Given the description of an element on the screen output the (x, y) to click on. 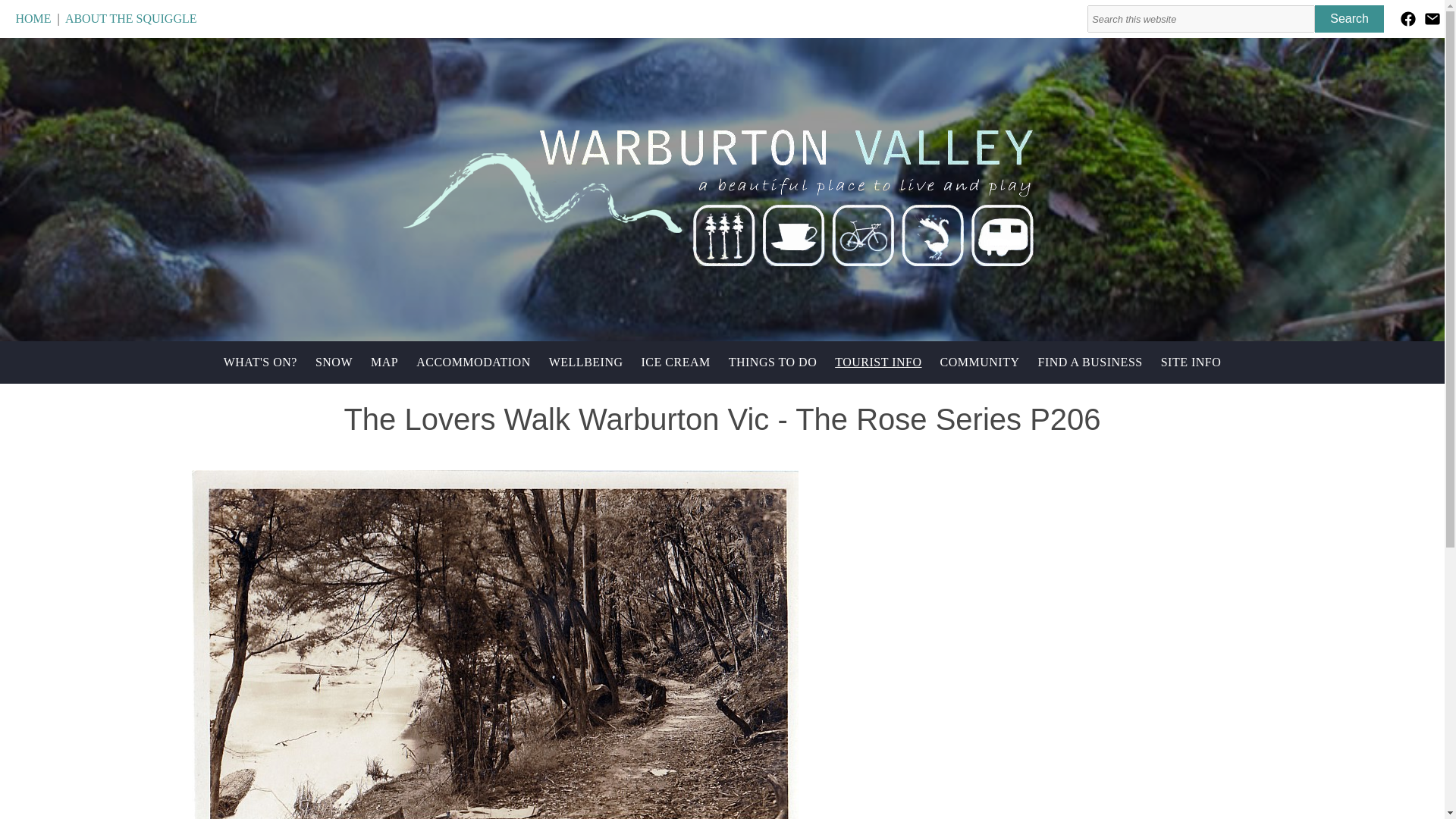
HOME (32, 18)
WELLBEING (585, 362)
Search (1349, 18)
MAP (384, 362)
TOURIST INFO (877, 362)
FIND A BUSINESS (1089, 362)
WHAT'S ON? (259, 362)
Connect with us: Facebook WarburtonInfo (1408, 18)
SNOW (333, 362)
Search (1349, 18)
COMMUNITY (980, 362)
THINGS TO DO (773, 362)
ACCOMMODATION (473, 362)
ICE CREAM (675, 362)
ABOUT THE SQUIGGLE (130, 18)
